Given the description of an element on the screen output the (x, y) to click on. 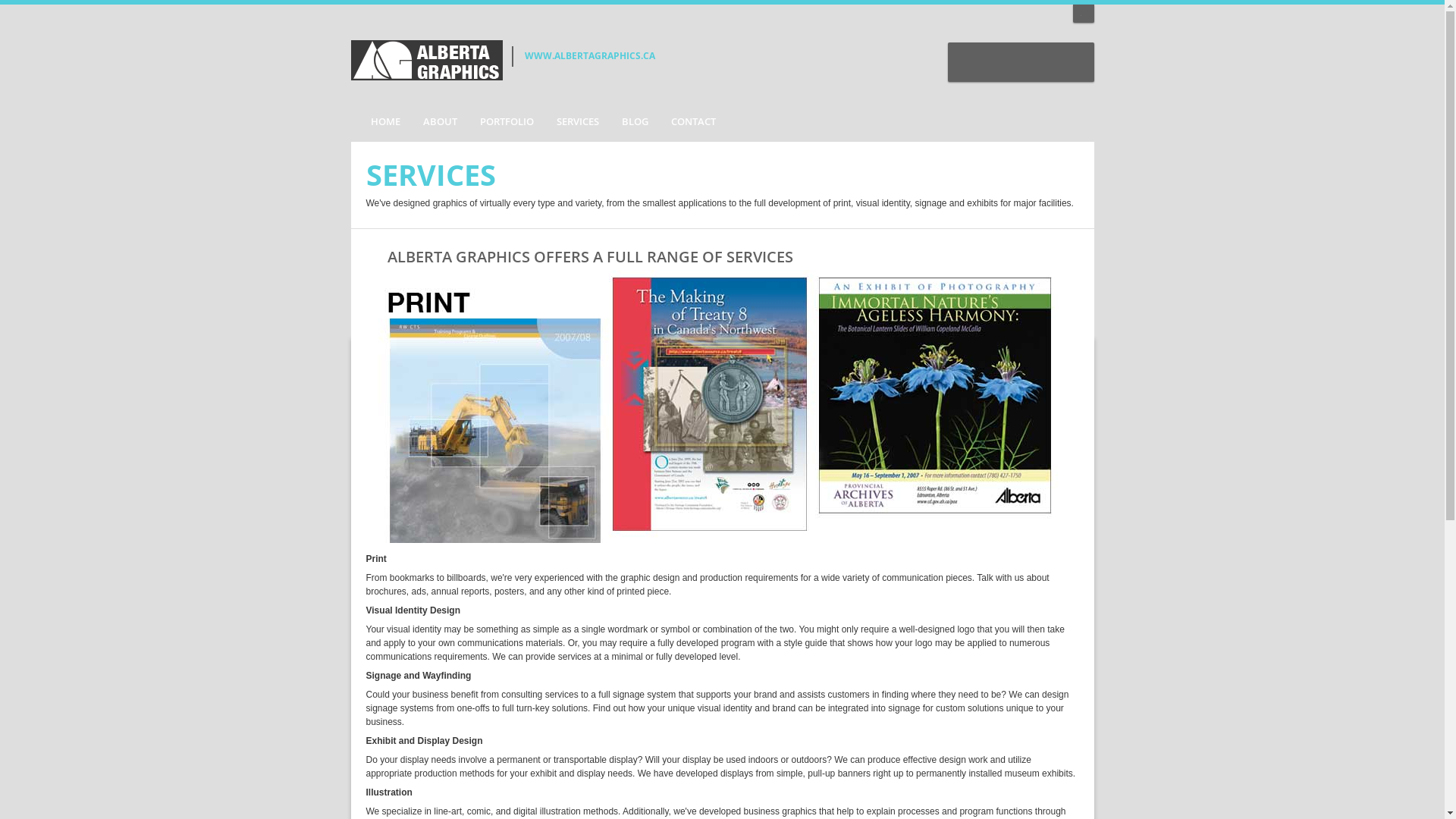
Facebook Element type: text (972, 62)
ABOUT Element type: text (439, 122)
BLOG Element type: text (633, 122)
WordPress Element type: text (1071, 62)
SERVICES Element type: text (576, 122)
Twitter Element type: text (1038, 62)
PORTFOLIO Element type: text (506, 122)
Youtube Element type: text (1005, 62)
HOME Element type: text (380, 122)
CONTACT Element type: text (693, 122)
WWW.ALBERTAGRAPHICS.CA Element type: text (589, 55)
